Given the description of an element on the screen output the (x, y) to click on. 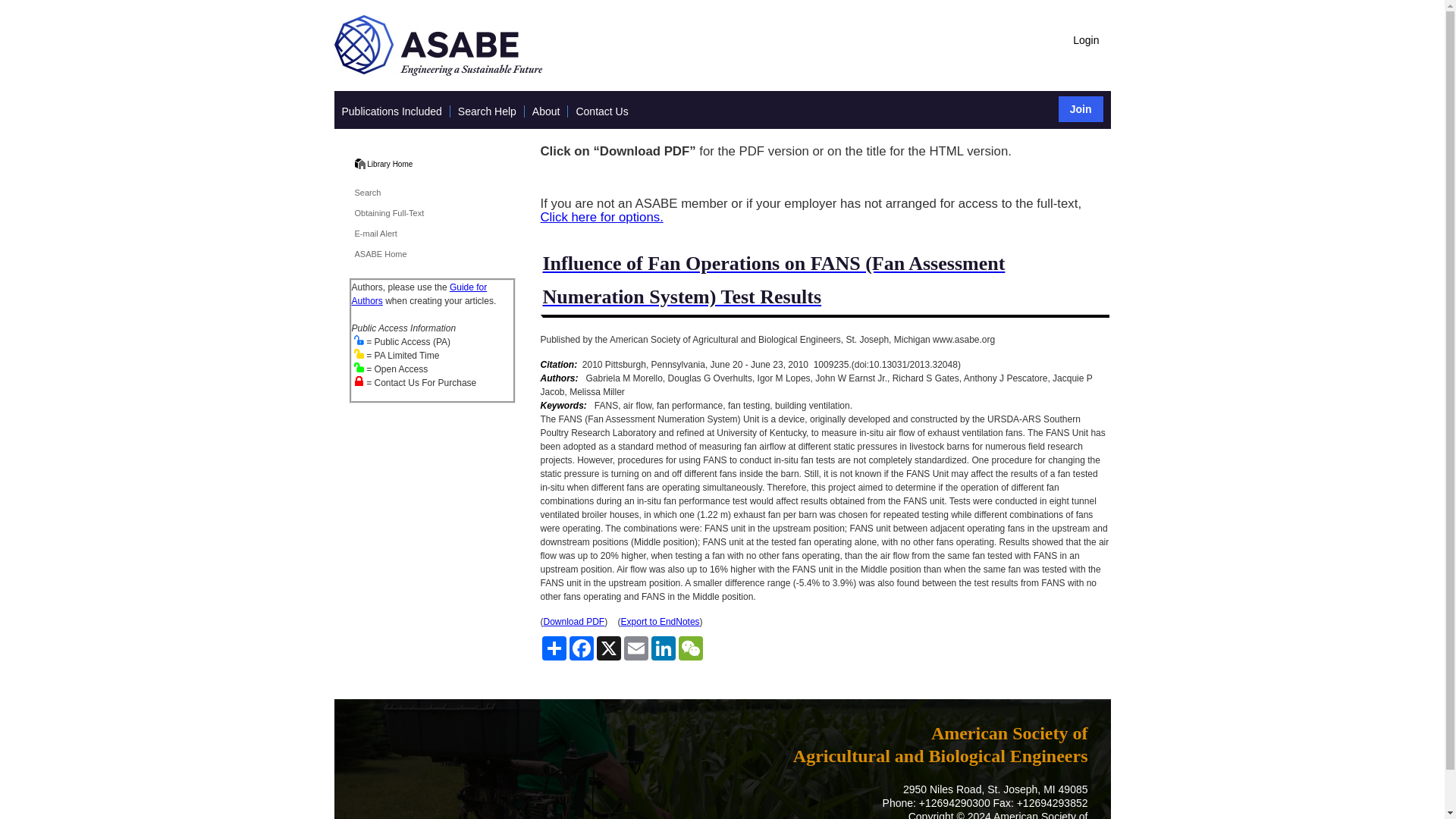
Contact Us For Purchase (358, 380)
Obtaining Full-Text (390, 212)
WeChat (690, 648)
Publications Included (390, 111)
Download PDF (573, 621)
About (545, 111)
Export to EndNotes (660, 621)
E-mail Alert (376, 233)
Facebook (580, 648)
Click here for options. (601, 216)
Search Help (486, 111)
ASABE Home (381, 253)
Home (389, 163)
Contact Us (600, 111)
Open Access (358, 367)
